Given the description of an element on the screen output the (x, y) to click on. 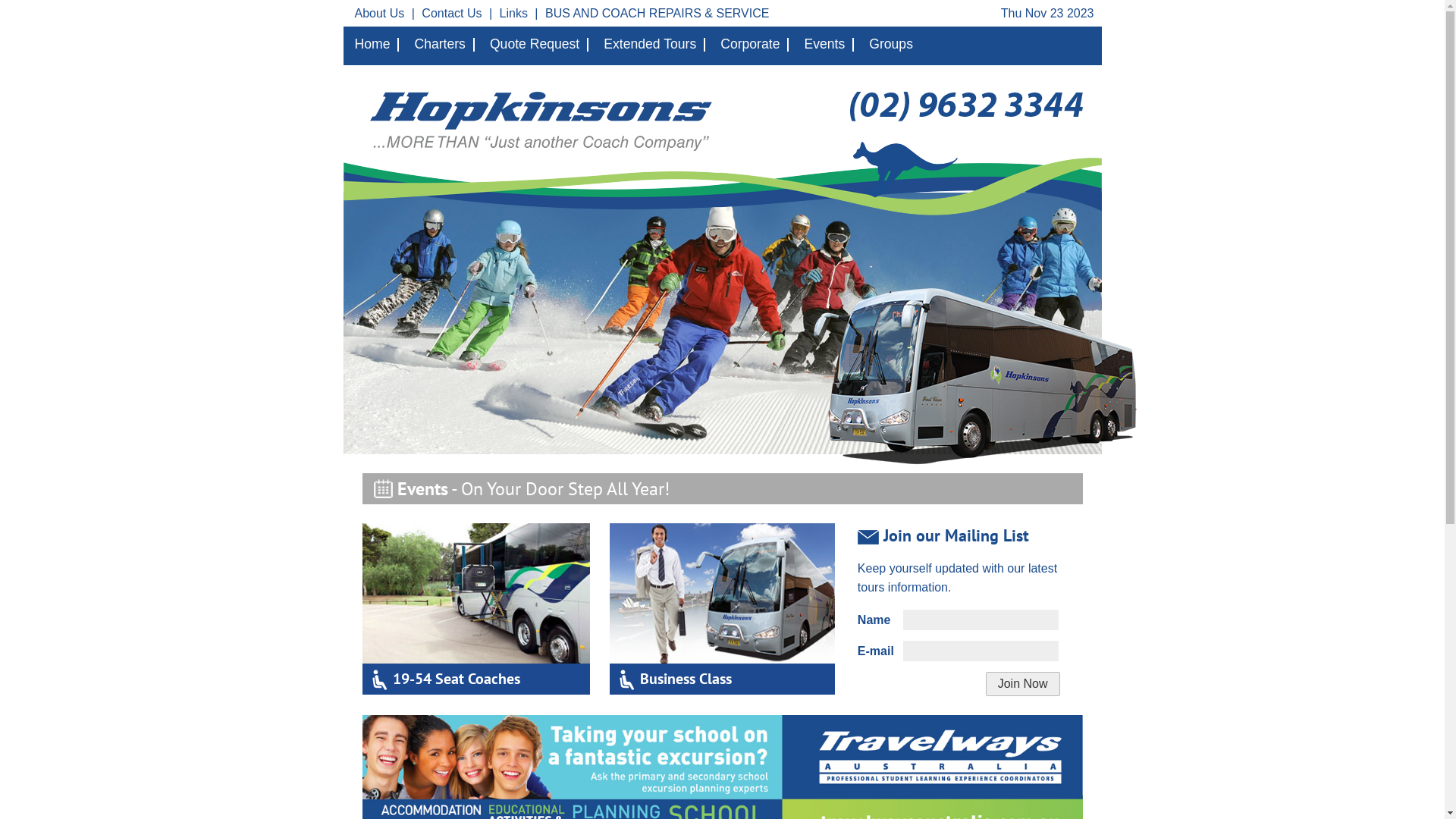
Business Class Element type: text (721, 640)
Join Now Element type: text (1022, 683)
Events Element type: text (828, 44)
Groups Element type: text (894, 44)
Contact Us Element type: text (451, 12)
Links Element type: text (513, 12)
Corporate Element type: text (754, 44)
About Us Element type: text (378, 12)
Quote Request Element type: text (538, 44)
Extended Tours Element type: text (654, 44)
BUS AND COACH REPAIRS & SERVICE Element type: text (656, 12)
Charters Element type: text (443, 44)
Home Element type: text (374, 44)
